Given the description of an element on the screen output the (x, y) to click on. 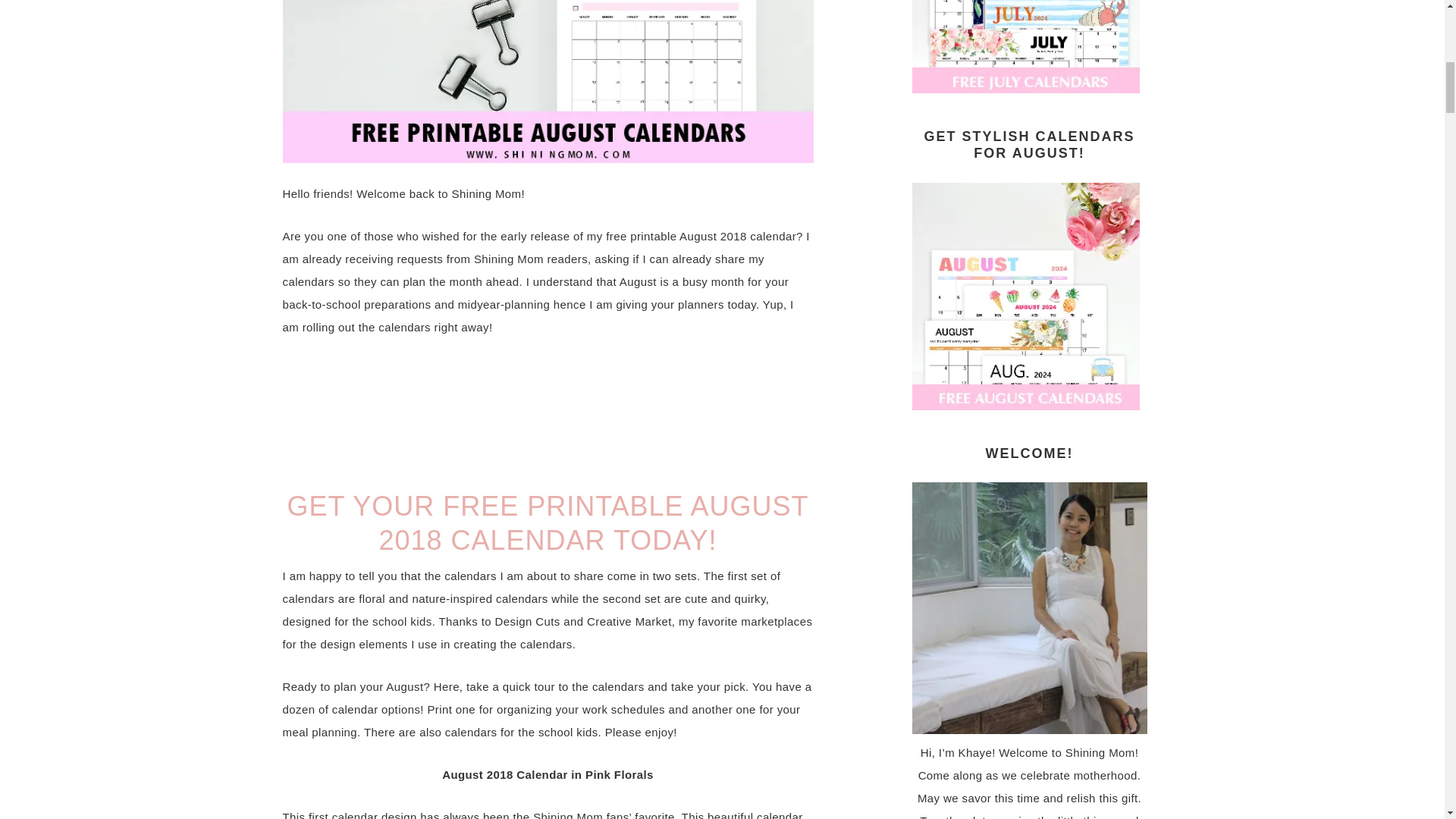
Organize Your March Schedules Today! (1024, 46)
july-calendar (1024, 84)
